Given the description of an element on the screen output the (x, y) to click on. 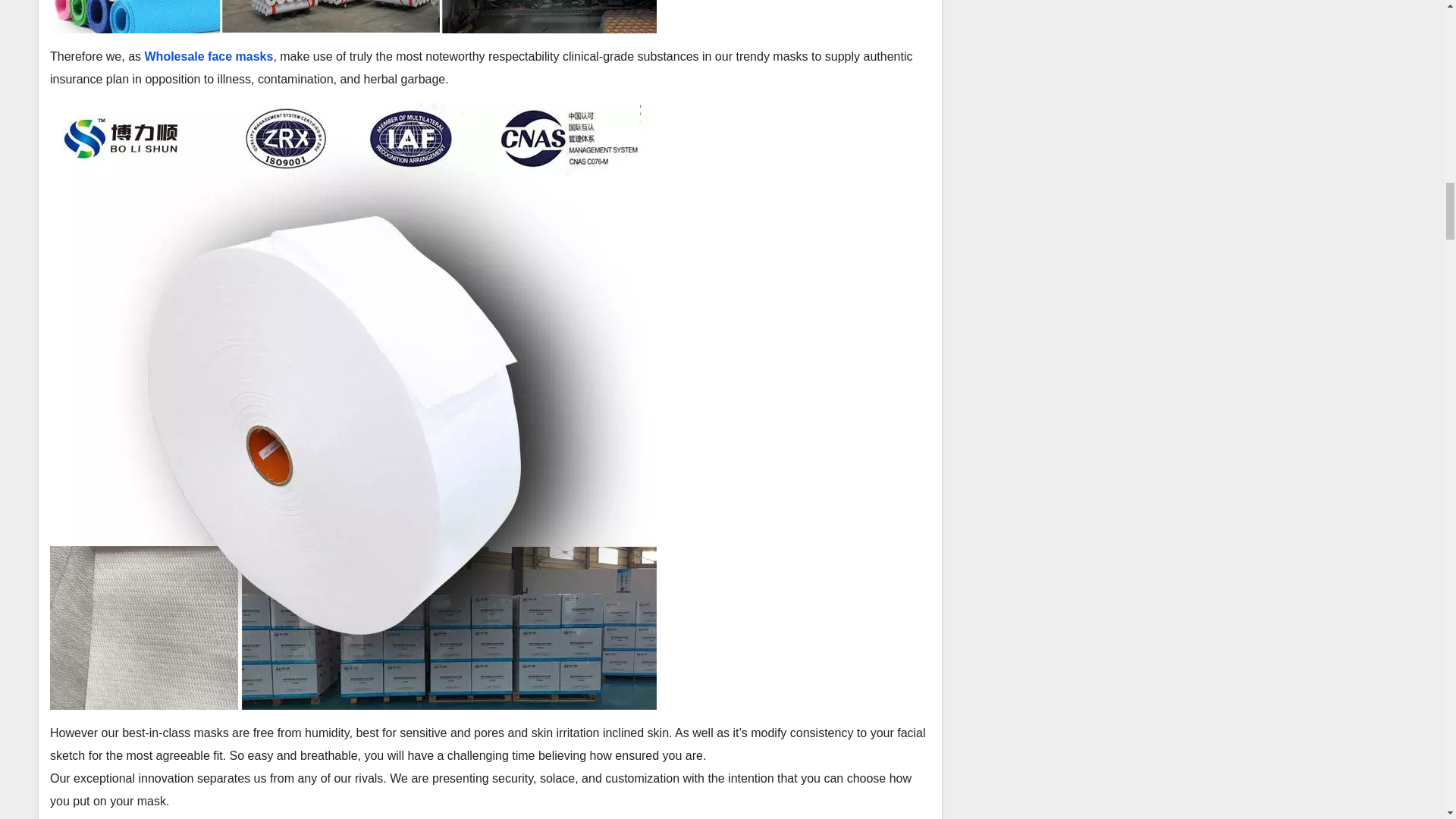
Wholesale face masks (208, 56)
